Given the description of an element on the screen output the (x, y) to click on. 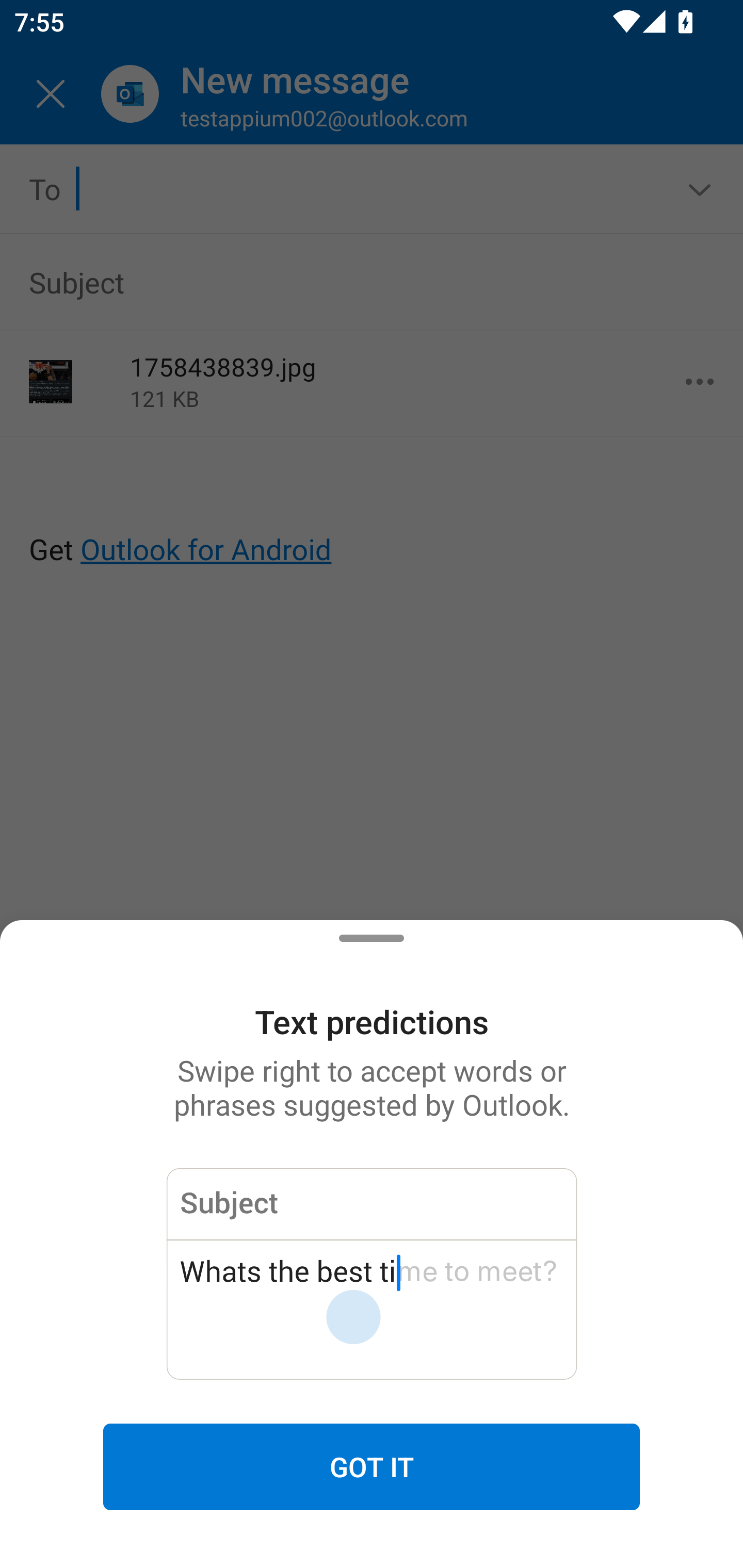
GOT IT Got it (371, 1466)
